Given the description of an element on the screen output the (x, y) to click on. 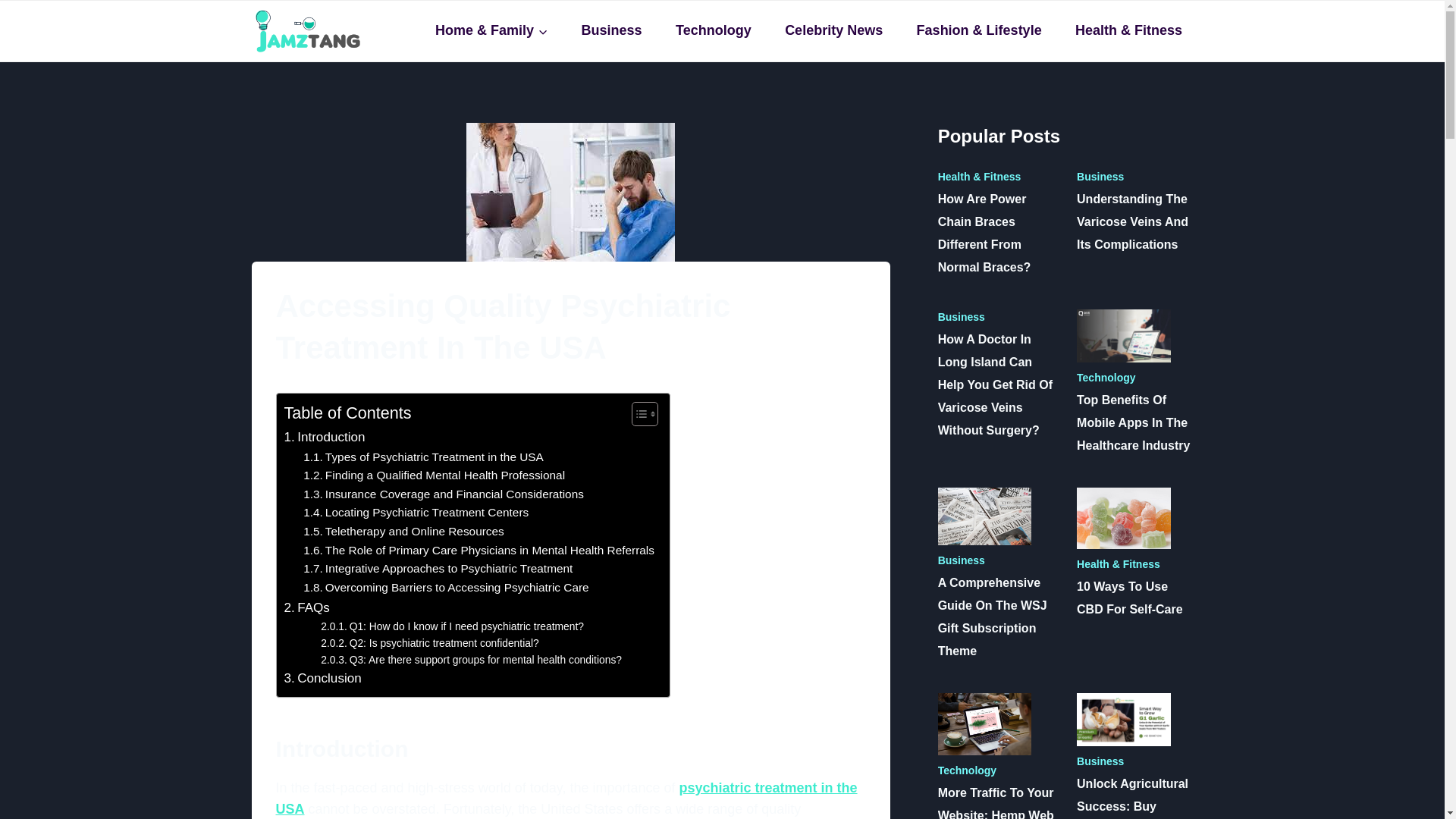
 Types of Psychiatric Treatment in the USA (422, 456)
Accessing Quality Psychiatric Treatment In The Usa (570, 191)
 Finding a Qualified Mental Health Professional (433, 475)
Q2: Is psychiatric treatment confidential? (429, 642)
Q3: Are there support groups for mental health conditions? (470, 659)
 Q1: How do I know if I need psychiatric treatment?  (451, 626)
Business (611, 30)
Conclusion (322, 678)
Overcoming Barriers to Accessing Psychiatric Care (445, 587)
